Given the description of an element on the screen output the (x, y) to click on. 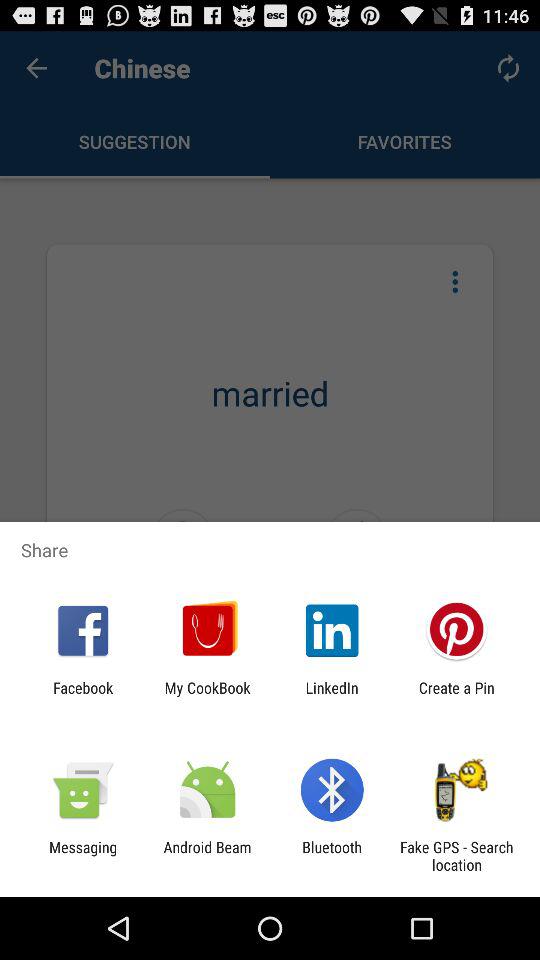
tap the app next to linkedin (456, 696)
